Given the description of an element on the screen output the (x, y) to click on. 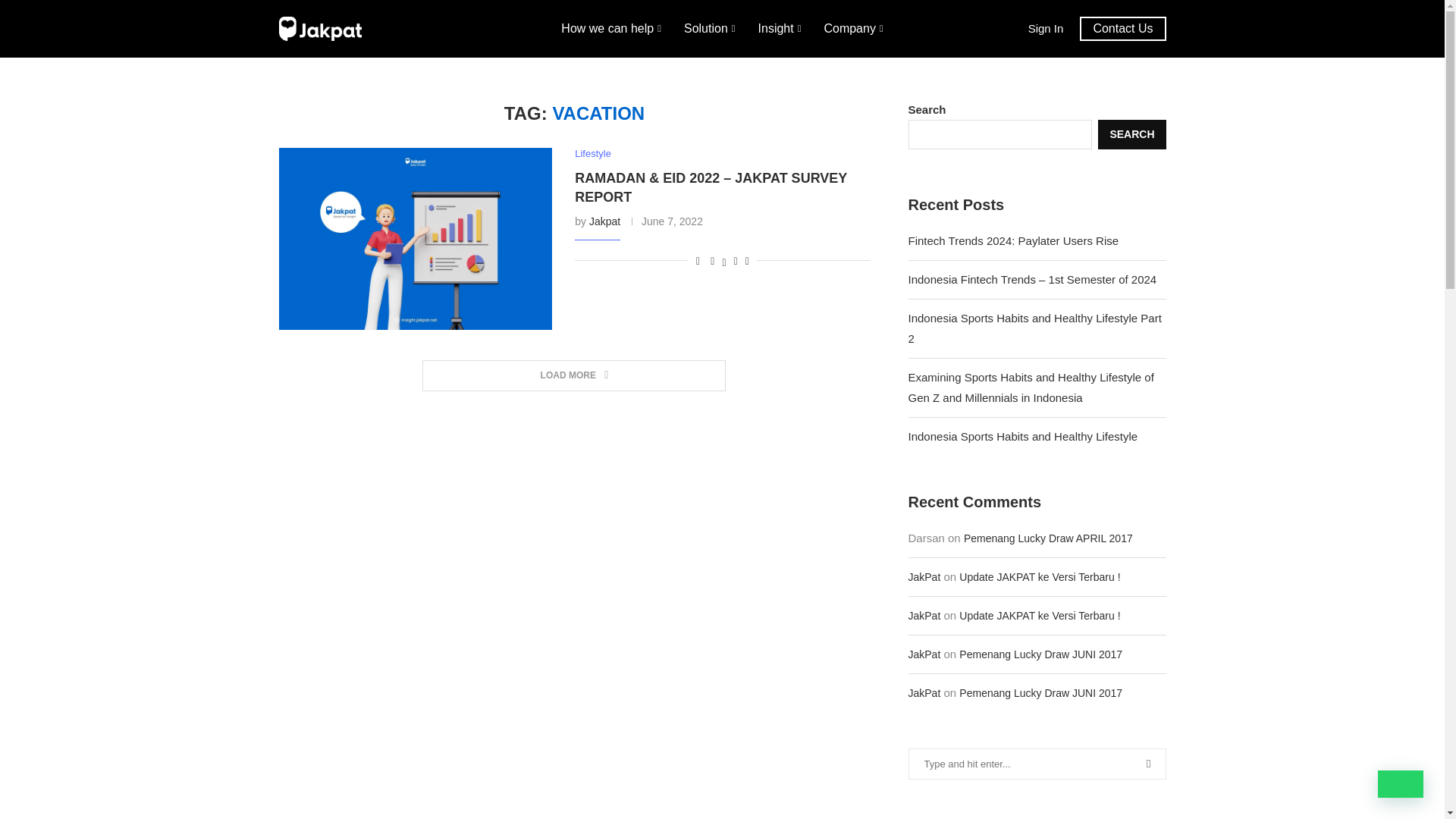
Sign In (1046, 28)
Solution (709, 28)
Insight (780, 28)
Company (853, 28)
Jakpat (604, 221)
How we can help (610, 28)
Contact Us (1123, 28)
Lifestyle (593, 153)
